Given the description of an element on the screen output the (x, y) to click on. 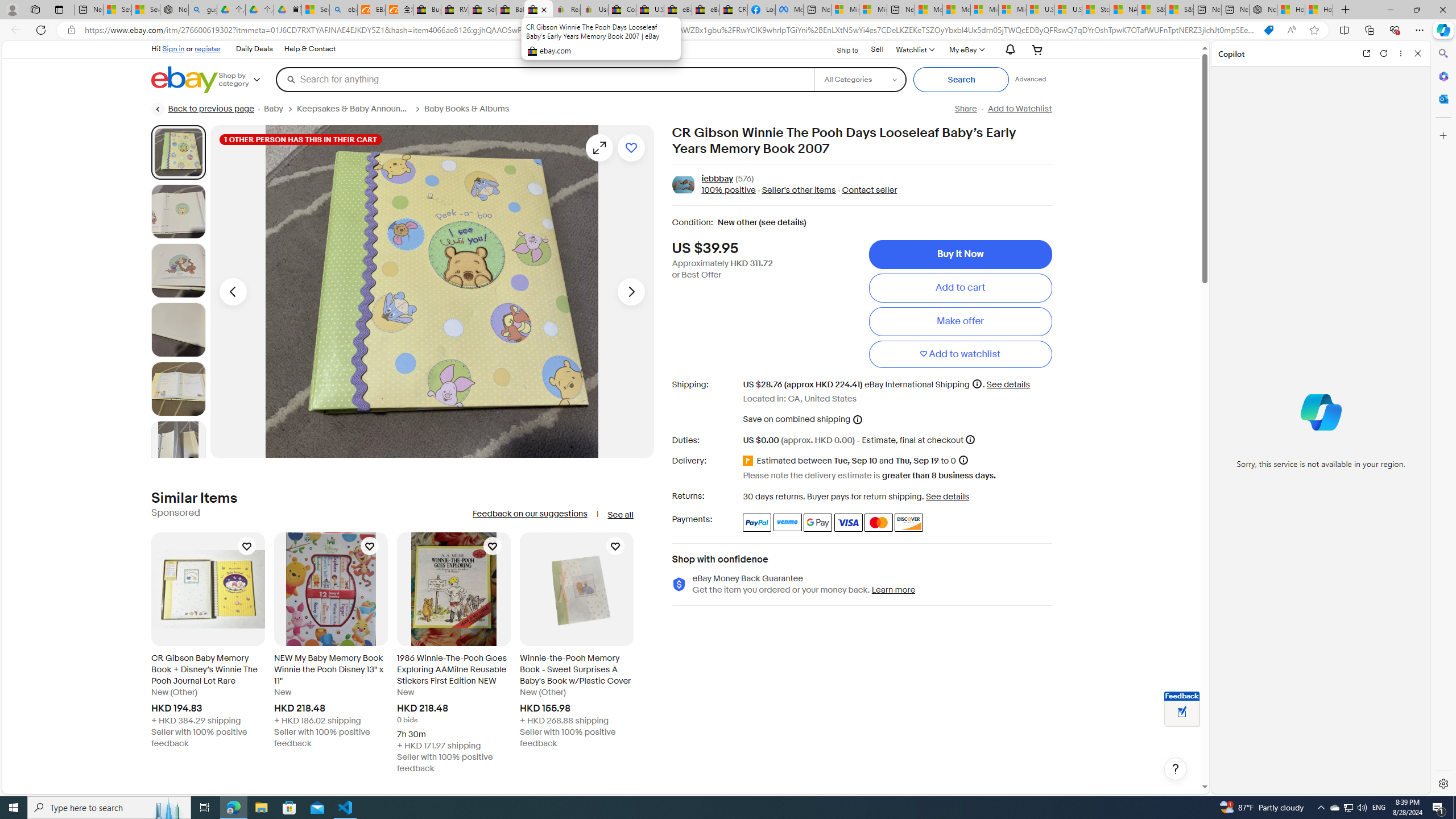
Help & Contact (309, 49)
register (207, 48)
Log into Facebook (761, 9)
Shop by category (246, 79)
(576) (744, 179)
Select a category for search (859, 78)
Add to cart (959, 287)
Delivery alert flag (749, 460)
